Given the description of an element on the screen output the (x, y) to click on. 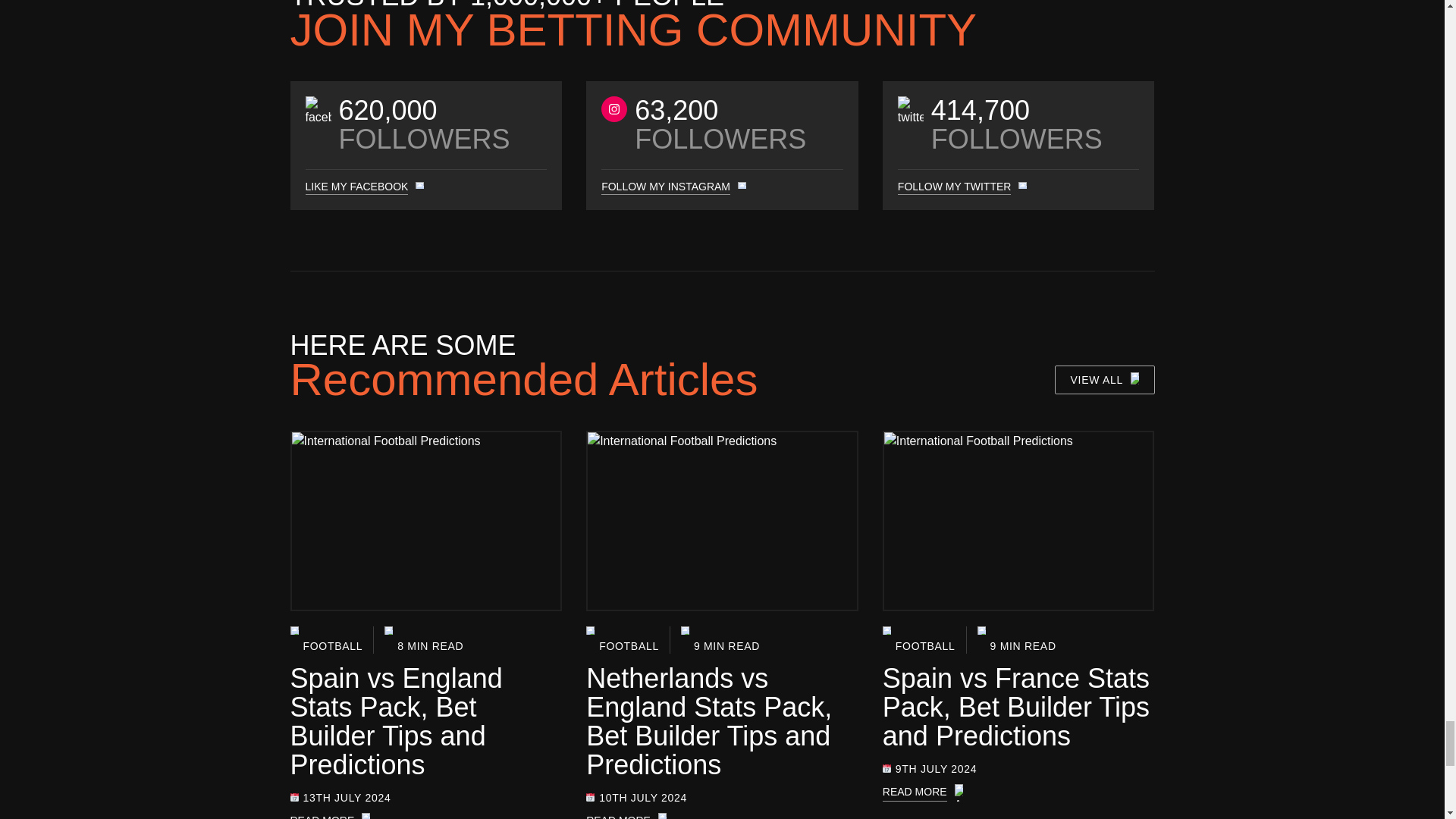
READ MORE (425, 816)
VIEW ALL (1104, 379)
LIKE MY FACEBOOK (355, 186)
READ MORE (722, 816)
FOLLOW MY TWITTER (954, 186)
FOLLOW MY INSTAGRAM (665, 186)
